Given the description of an element on the screen output the (x, y) to click on. 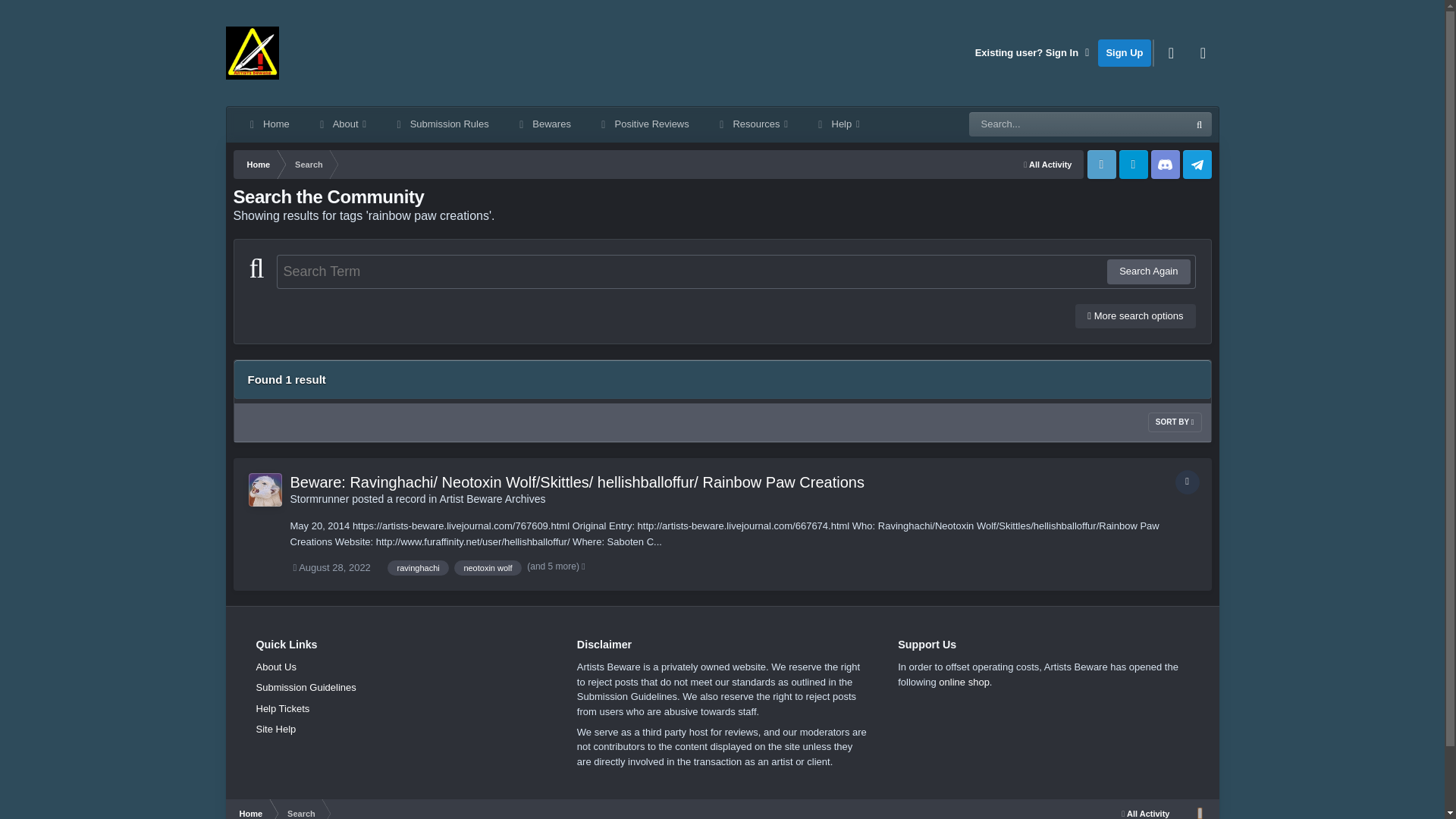
Existing user? Sign In   (1033, 52)
Go to Stormrunner's profile (319, 499)
All Activity (1047, 164)
Help (837, 124)
Go to Stormrunner's profile (265, 489)
Customizer (1172, 52)
Home (267, 124)
Record (1186, 482)
Resources (752, 124)
About (341, 124)
Bewares (543, 124)
Light Mode (1204, 52)
Find other content tagged with 'neotoxin wolf' (487, 567)
Home (257, 164)
Sign Up (1123, 52)
